Given the description of an element on the screen output the (x, y) to click on. 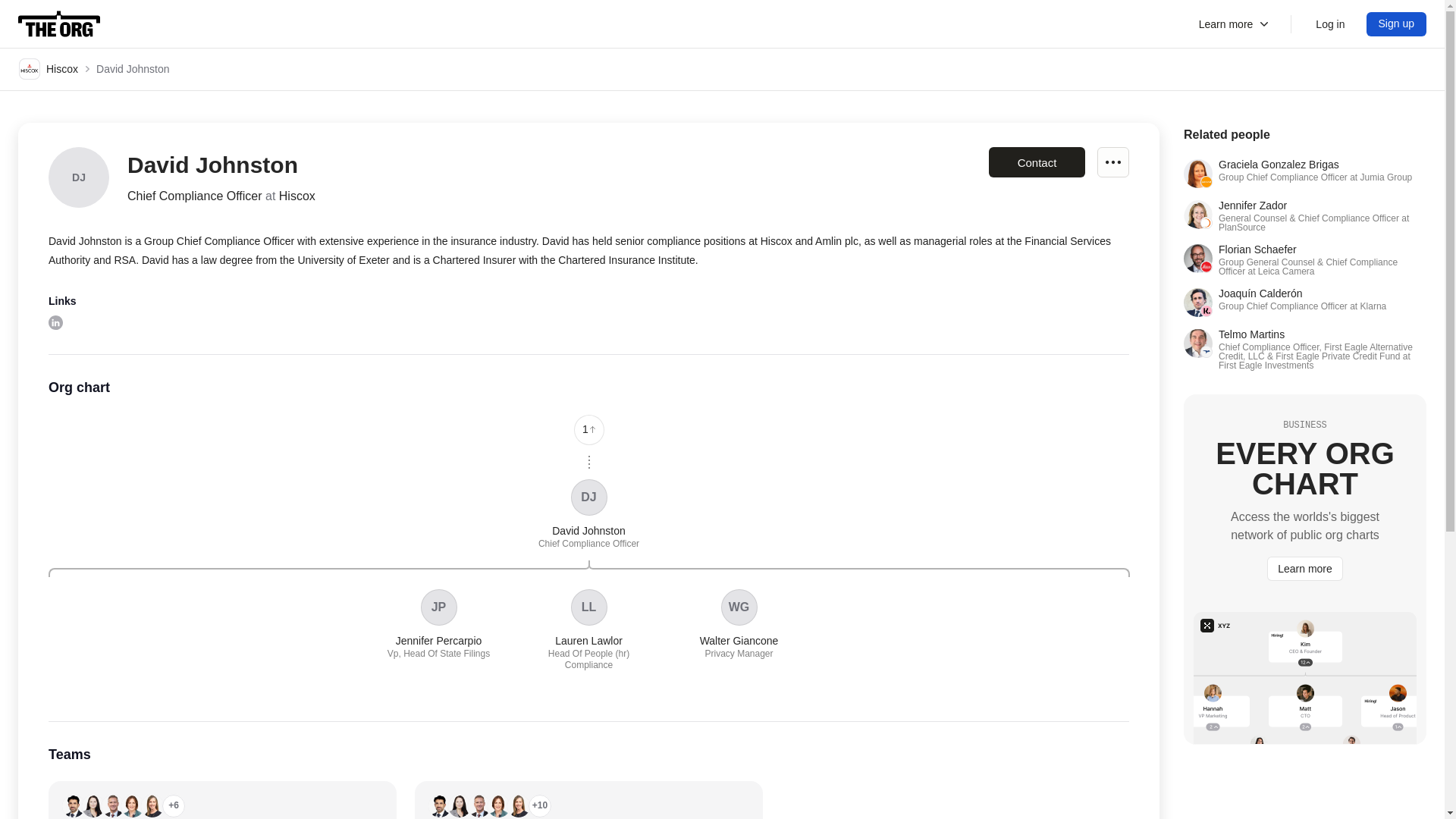
Contact (1036, 162)
Hiscox (48, 68)
Sign up to The Org (1396, 24)
Log in to The Org (1329, 24)
The Org Home (58, 23)
Learn more (437, 624)
Sign up (1234, 24)
Log in (1396, 24)
